Given the description of an element on the screen output the (x, y) to click on. 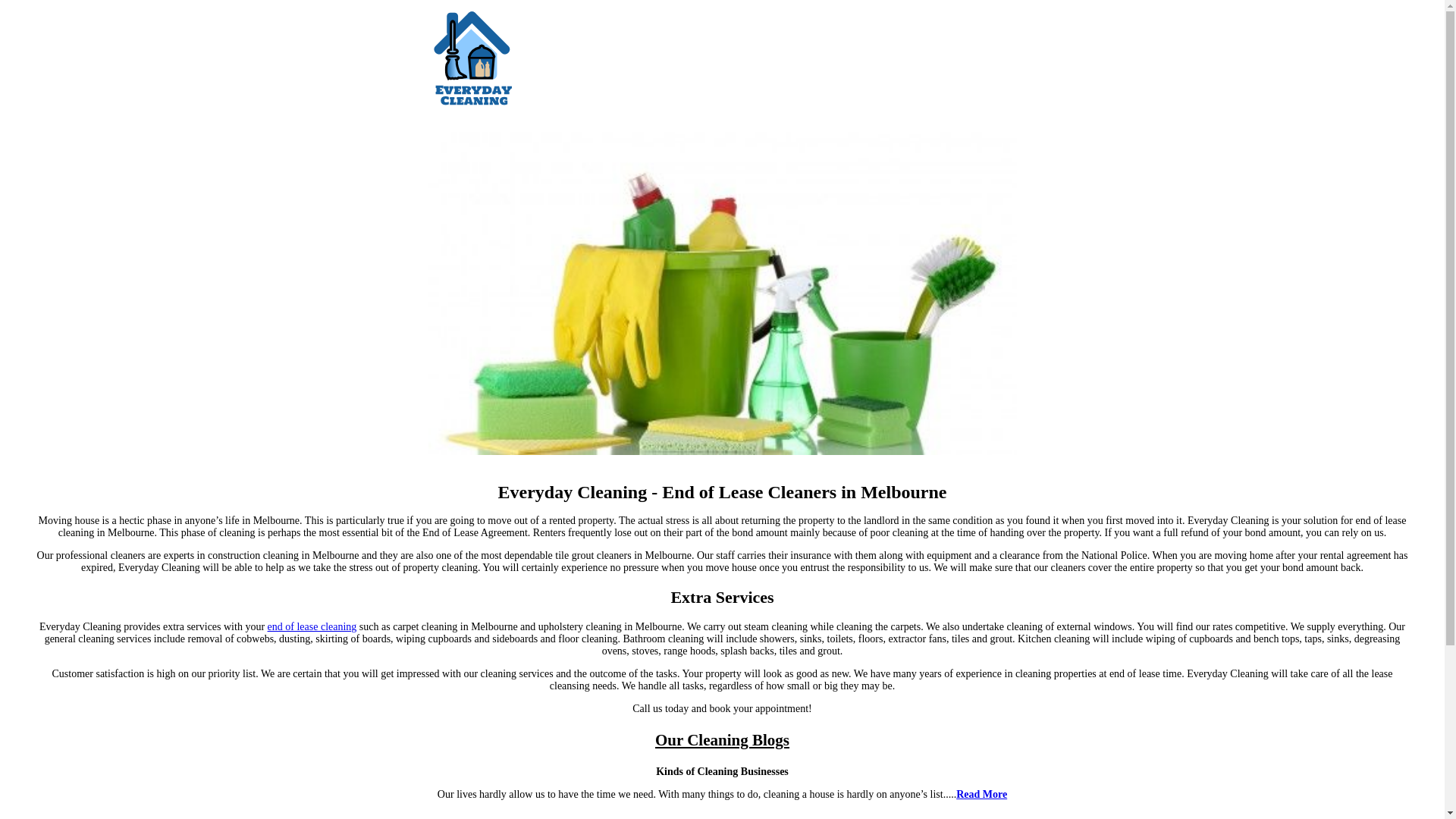
Read More Element type: text (981, 794)
End of Lease Cleaners in Melbourne Element type: hover (721, 288)
end of lease cleaning Element type: text (312, 626)
Everyday Cleaning Element type: hover (470, 57)
